Given the description of an element on the screen output the (x, y) to click on. 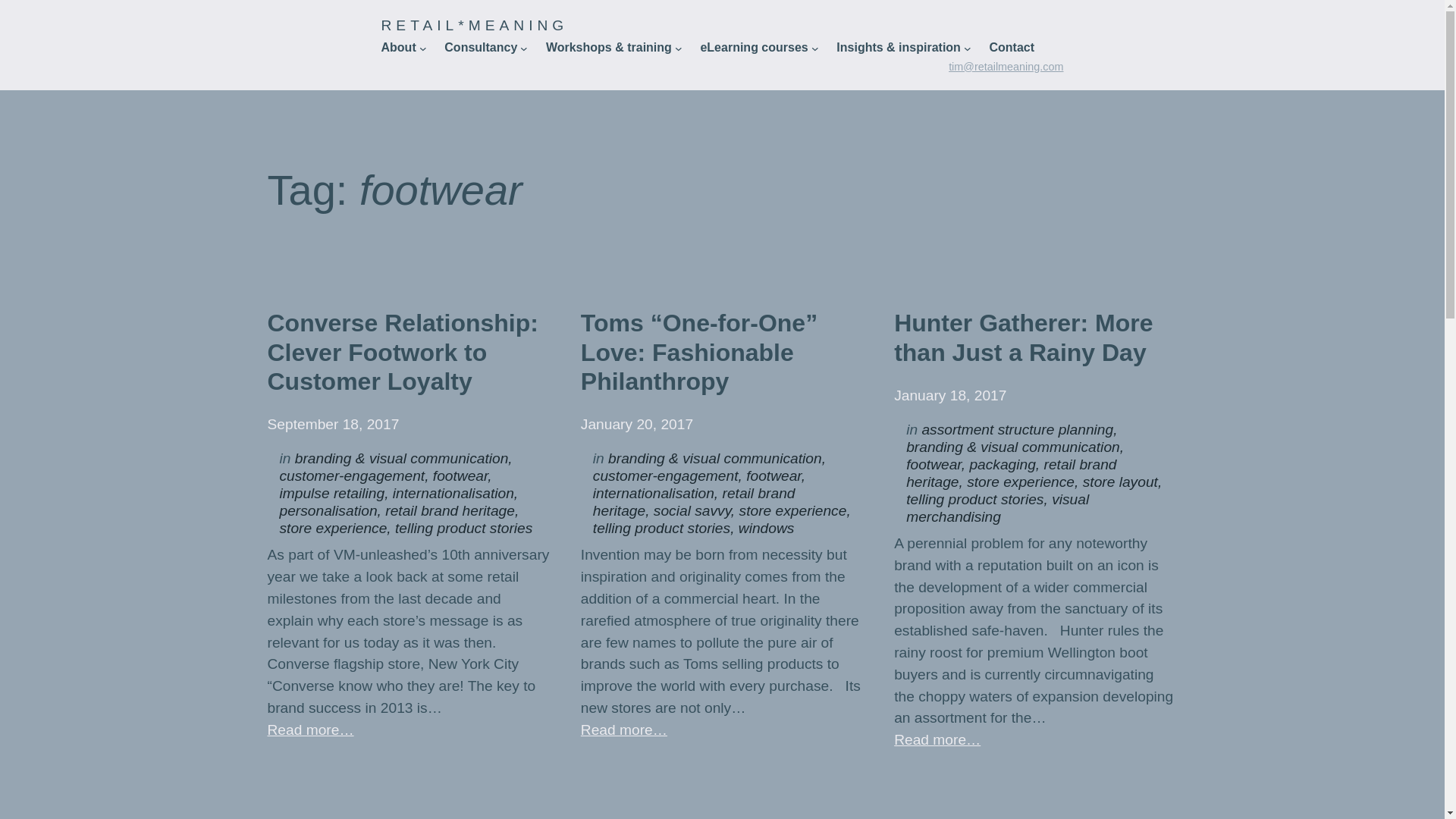
Consultancy (480, 47)
About (397, 47)
September 18, 2017 (332, 424)
Converse Relationship: Clever Footwork to Customer Loyalty (408, 351)
eLearning courses (754, 47)
Contact (1010, 47)
resourceful retailing (397, 47)
